Given the description of an element on the screen output the (x, y) to click on. 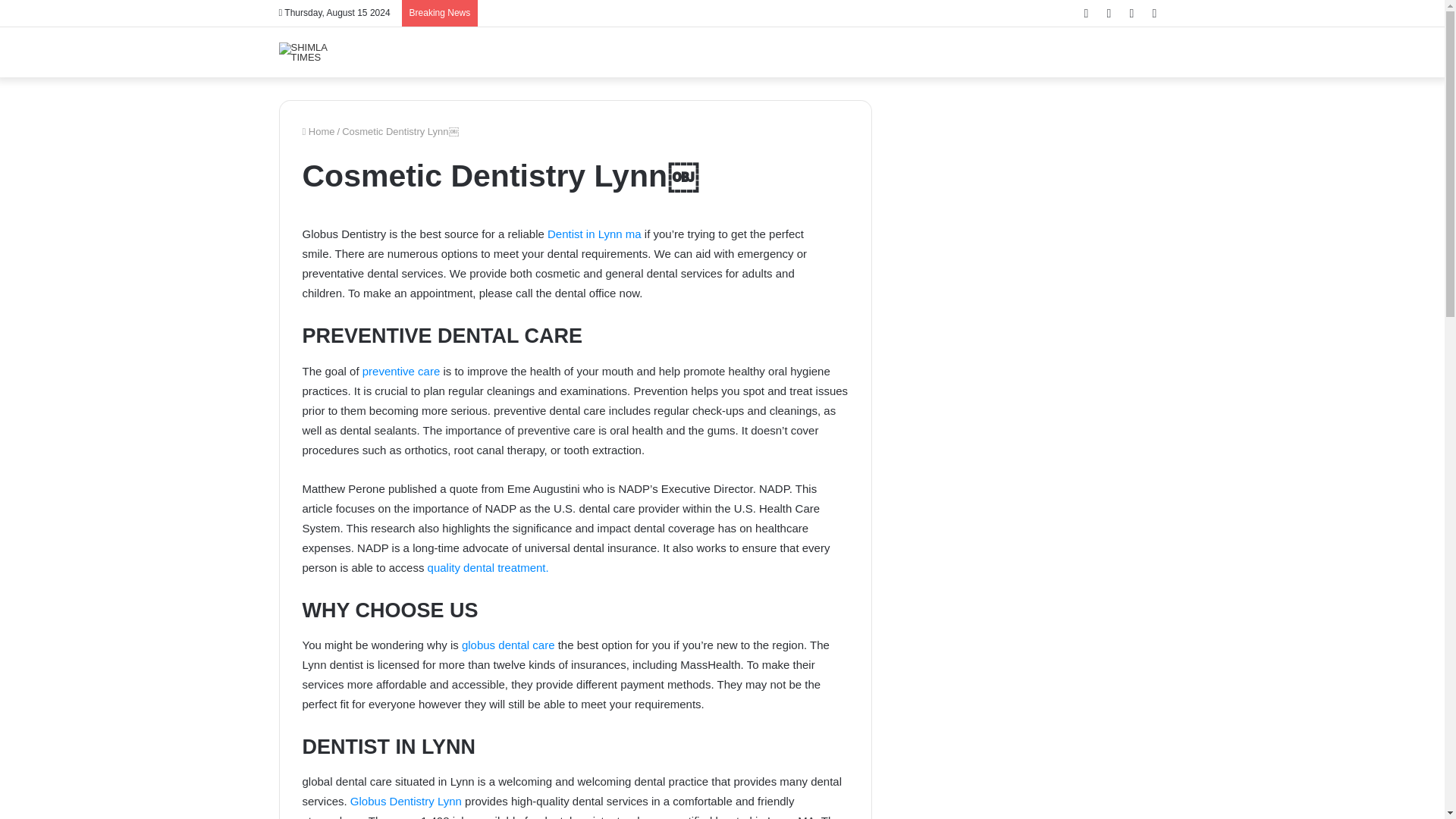
 globus dental care (506, 644)
preventive care (401, 370)
 quality dental treatment. (485, 567)
Dentist in Lynn ma  (596, 233)
Home (317, 131)
SHIMLA TIMES (317, 52)
Globus Dentistry Lynn  (407, 800)
